Given the description of an element on the screen output the (x, y) to click on. 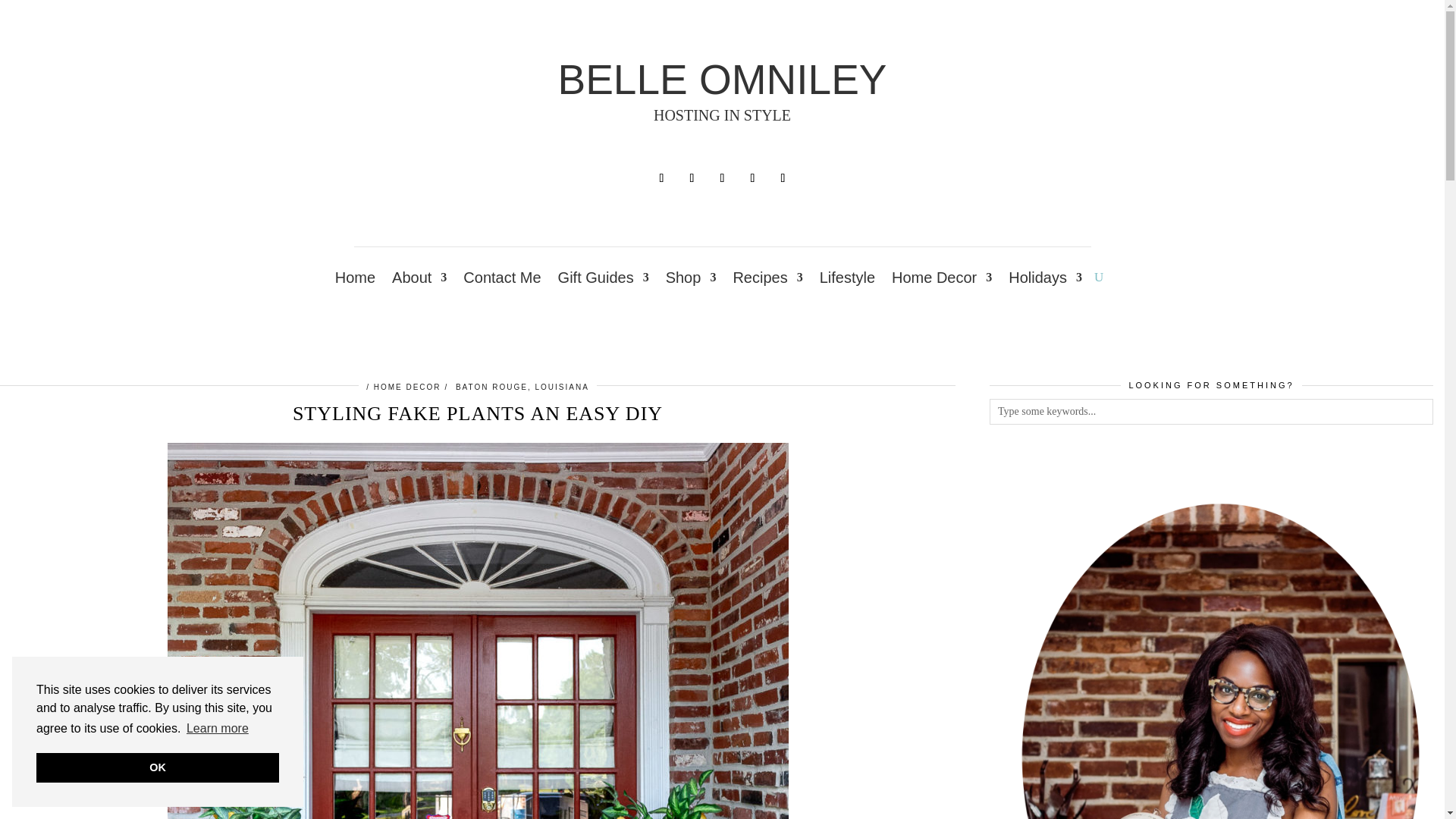
Follow on Amazon (751, 178)
About (418, 280)
Follow on Facebook (660, 178)
Follow on Pinterest (721, 178)
Gift Guides (603, 280)
OK (157, 767)
Home (354, 280)
Shop (690, 280)
Learn more (217, 728)
Follow on Youtube (782, 178)
Recipes (767, 280)
Contact Me (501, 280)
Follow on Instagram (691, 178)
